Given the description of an element on the screen output the (x, y) to click on. 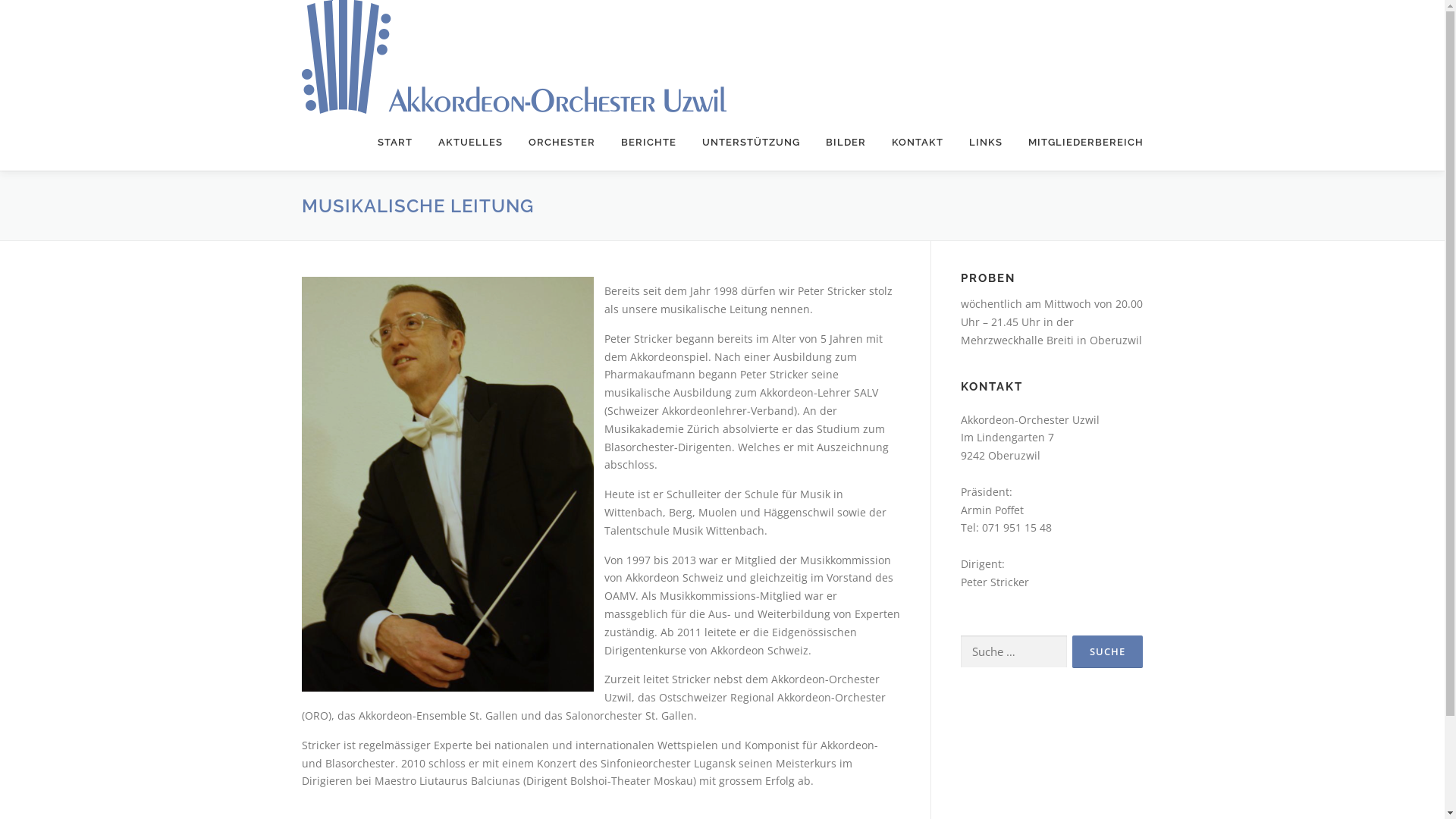
KONTAKT Element type: text (916, 141)
Suche Element type: text (1107, 651)
BERICHTE Element type: text (648, 141)
MITGLIEDERBEREICH Element type: text (1078, 141)
AKTUELLES Element type: text (469, 141)
BILDER Element type: text (845, 141)
LINKS Element type: text (984, 141)
START Element type: text (394, 141)
ORCHESTER Element type: text (561, 141)
